Given the description of an element on the screen output the (x, y) to click on. 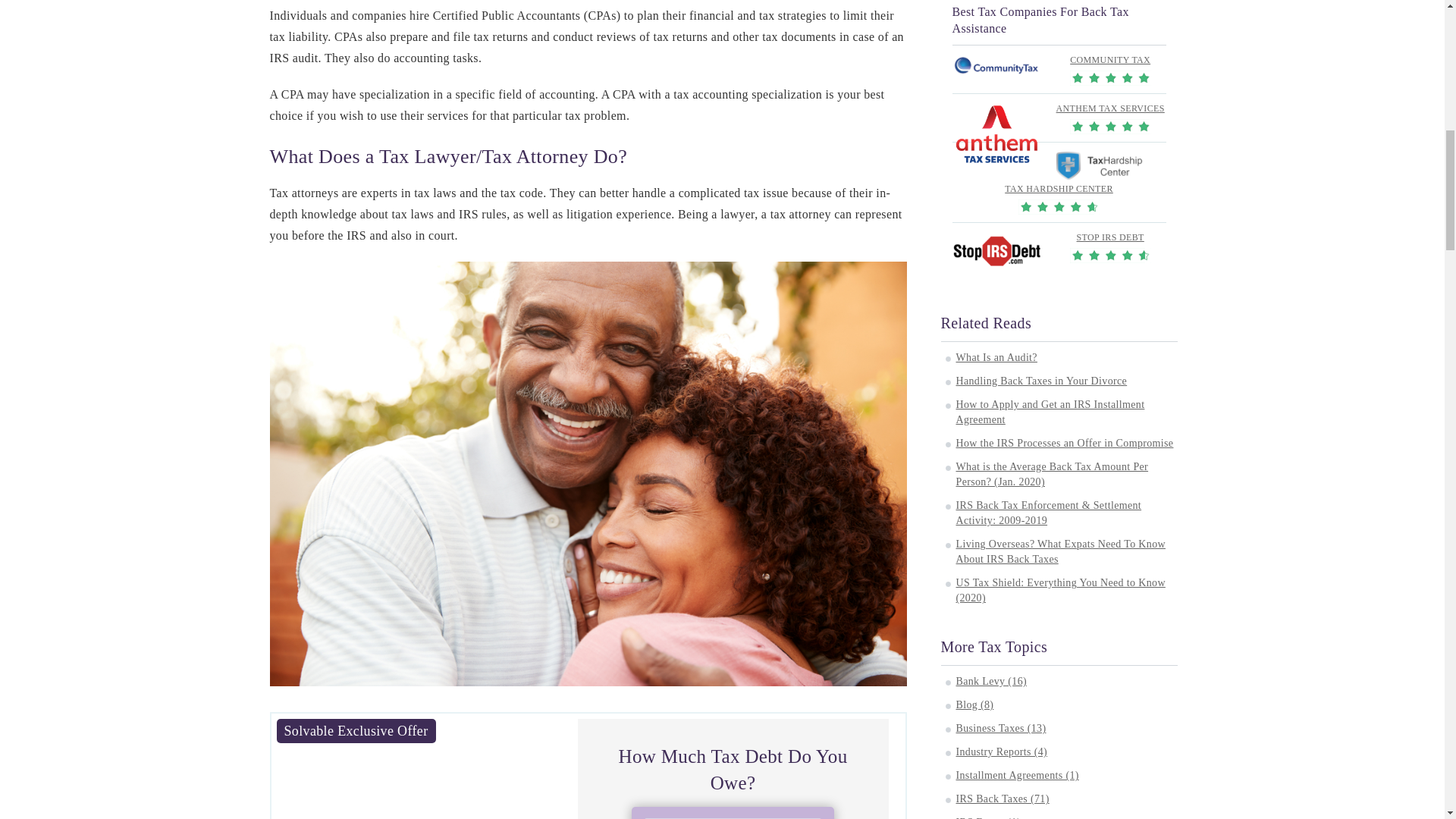
Anthem Tax Services (996, 134)
Tax Hardship Center (1098, 164)
Stop IRS Debt  (996, 250)
Community Tax Back Tax Assistance (996, 67)
